Given the description of an element on the screen output the (x, y) to click on. 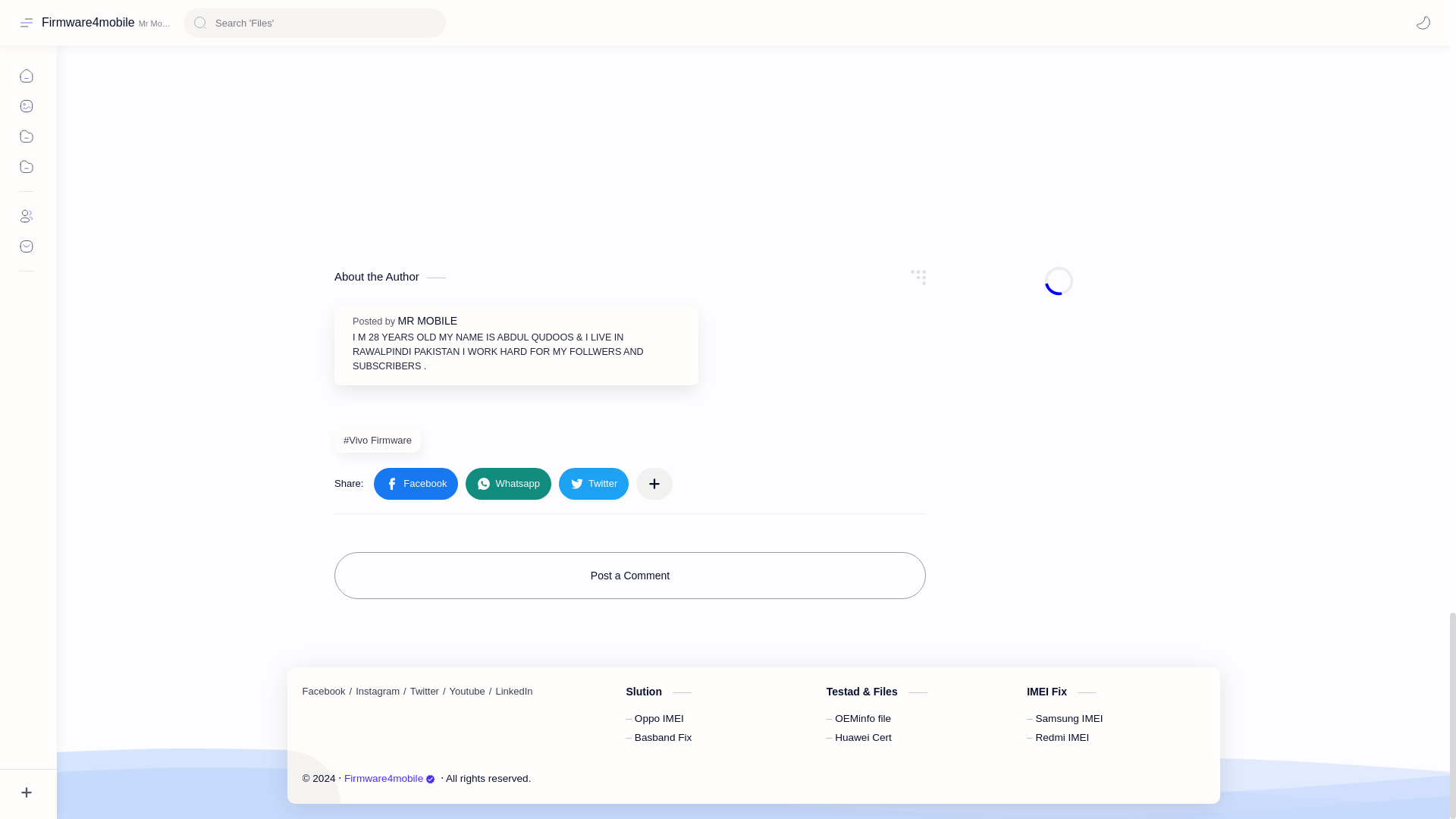
Vivo Y30 MTK Test Point (630, 117)
